Given the description of an element on the screen output the (x, y) to click on. 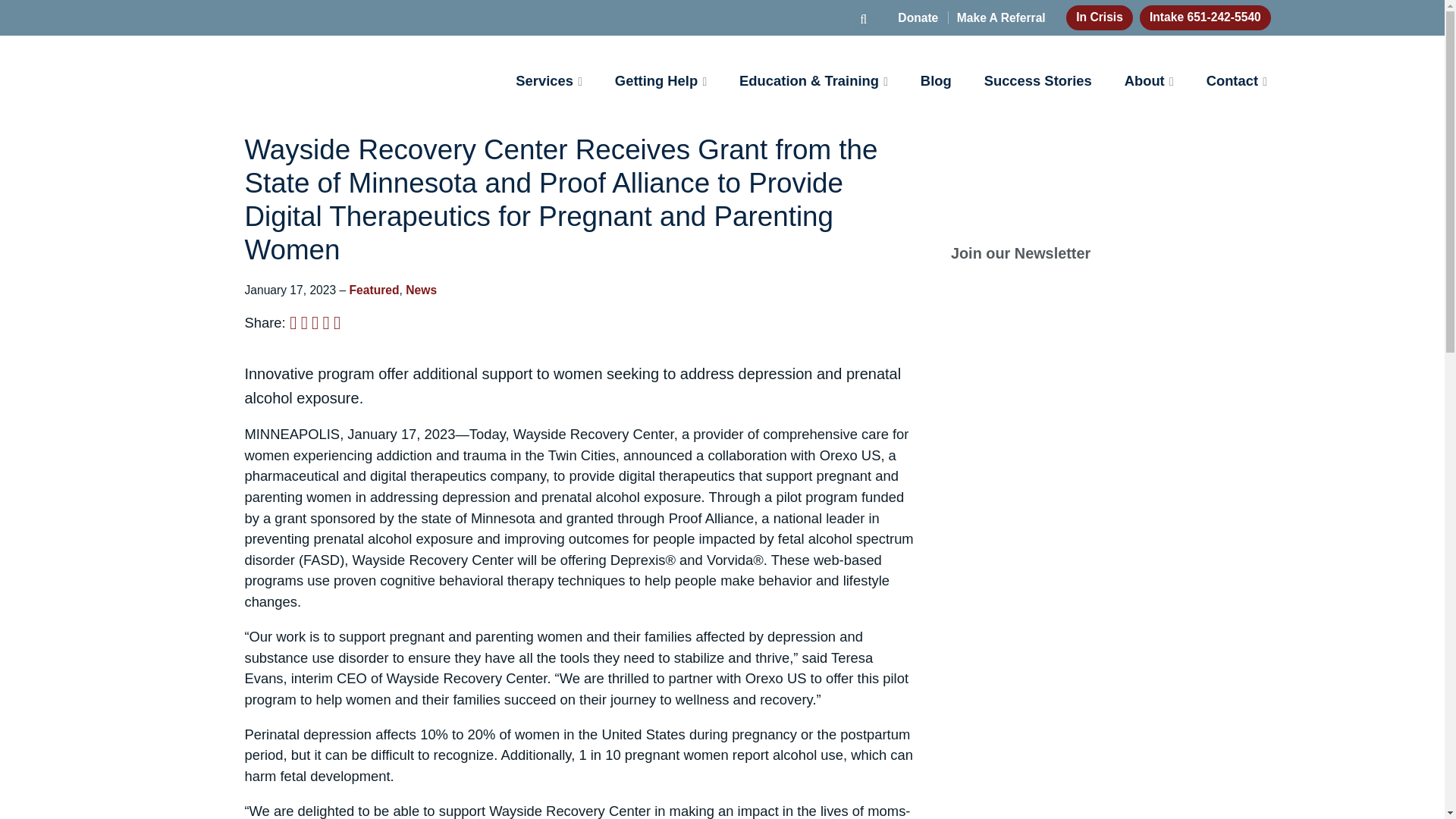
Intake 651-242-5540 (1205, 16)
Donate (917, 17)
Make A Referral (996, 17)
In Crisis (1098, 16)
